Given the description of an element on the screen output the (x, y) to click on. 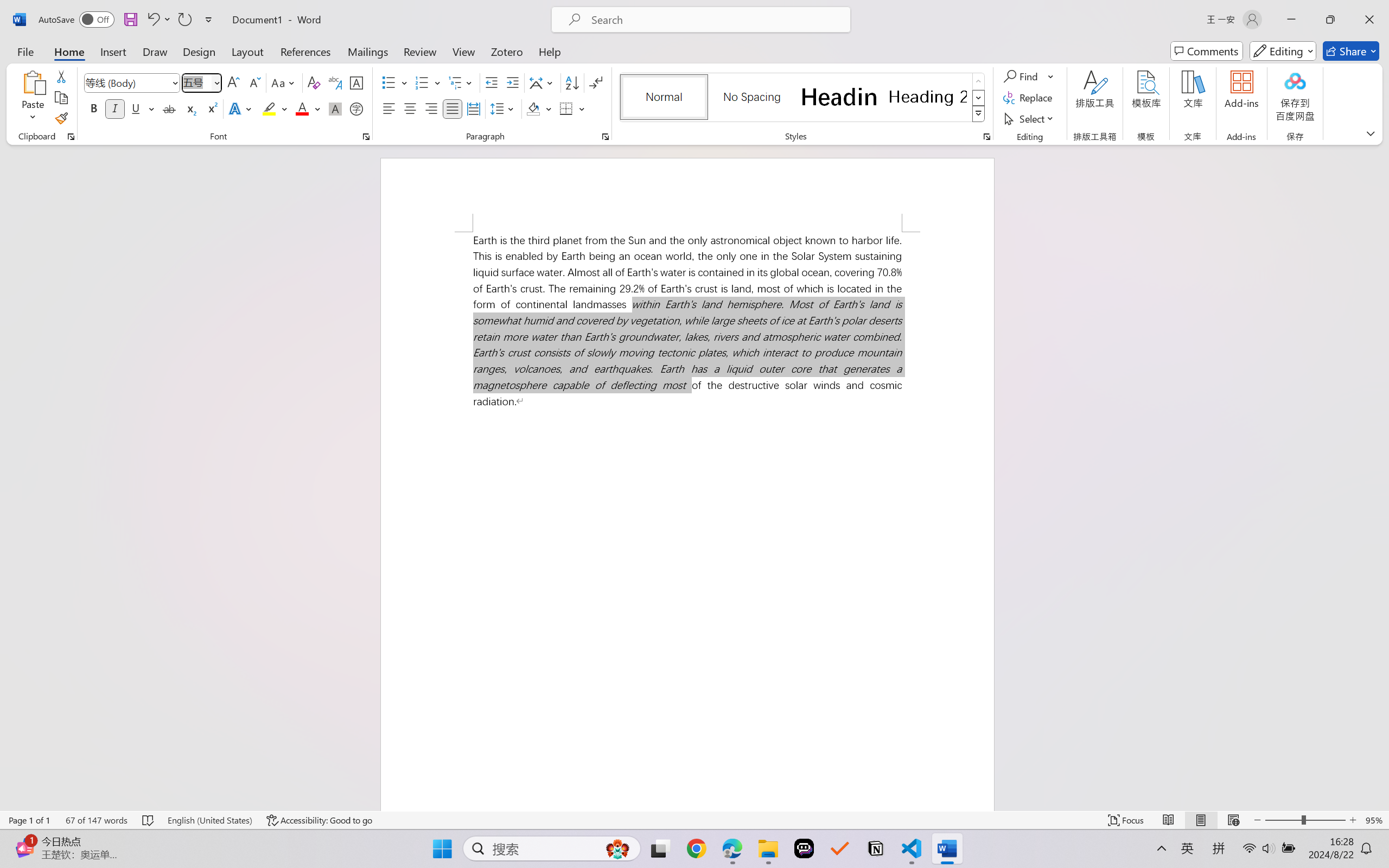
Distributed (473, 108)
Text Highlight Color Yellow (269, 108)
Italic (115, 108)
Character Border (356, 82)
Show/Hide Editing Marks (595, 82)
Increase Indent (512, 82)
